Given the description of an element on the screen output the (x, y) to click on. 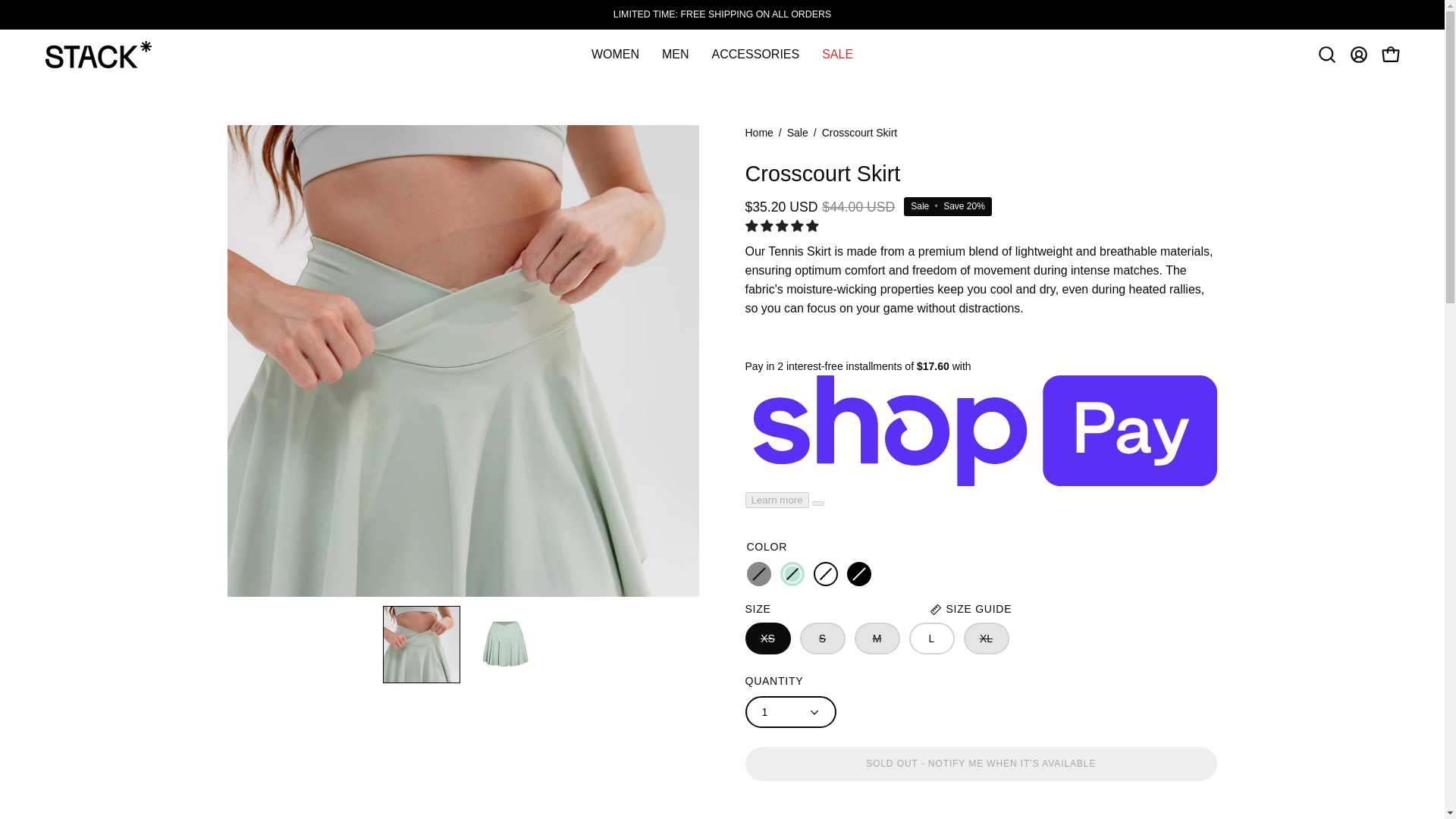
Go back to Home page (758, 133)
Open search bar (1326, 54)
